Given the description of an element on the screen output the (x, y) to click on. 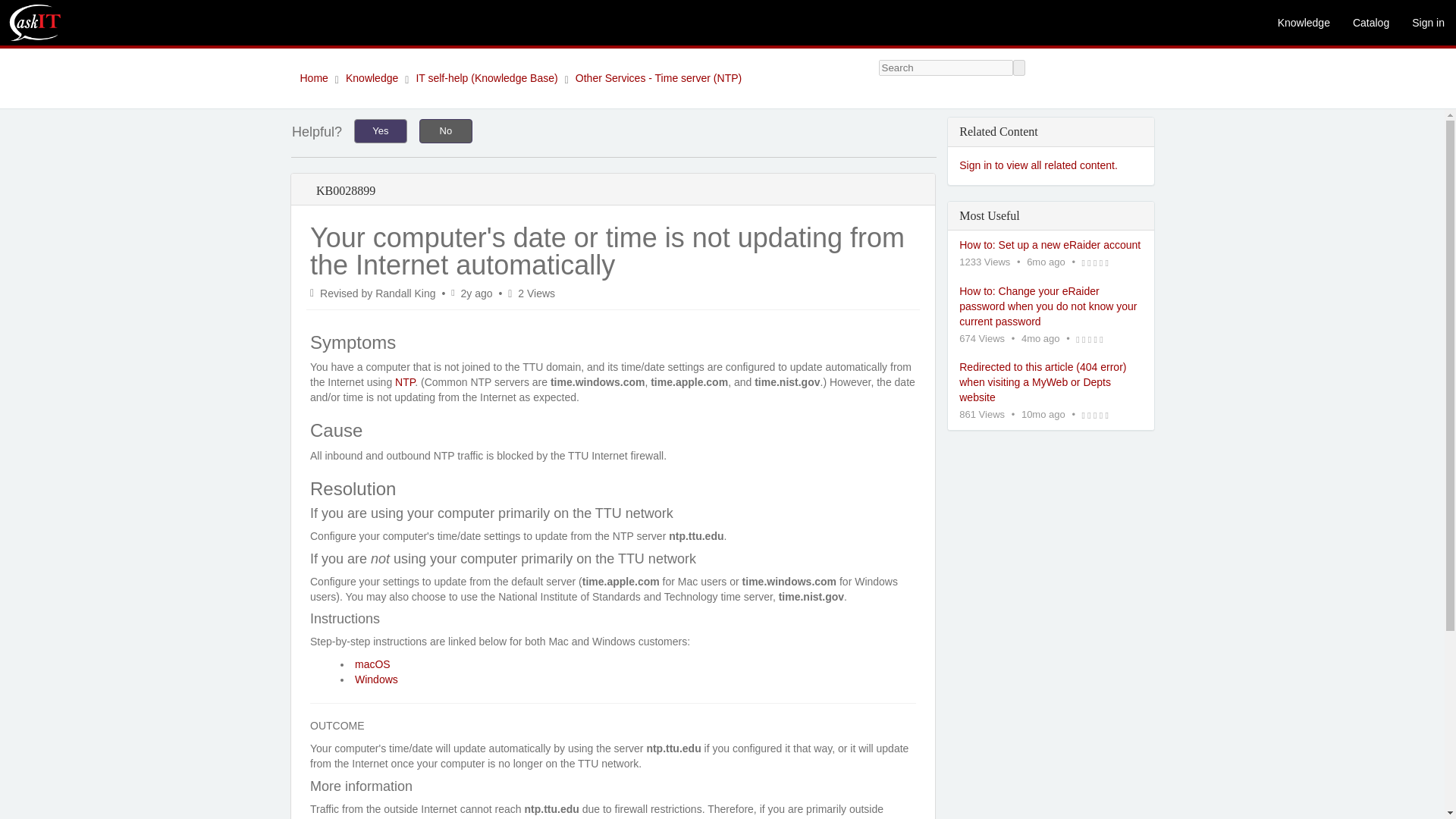
Sign in to view all related content. (1038, 164)
Related Content (1050, 151)
Catalog (1370, 22)
No (445, 130)
Windows (376, 679)
Yes (380, 130)
NTP (404, 381)
askIT (35, 22)
How to: Set up a new eRaider account (1050, 245)
Knowledge (1303, 22)
